Given the description of an element on the screen output the (x, y) to click on. 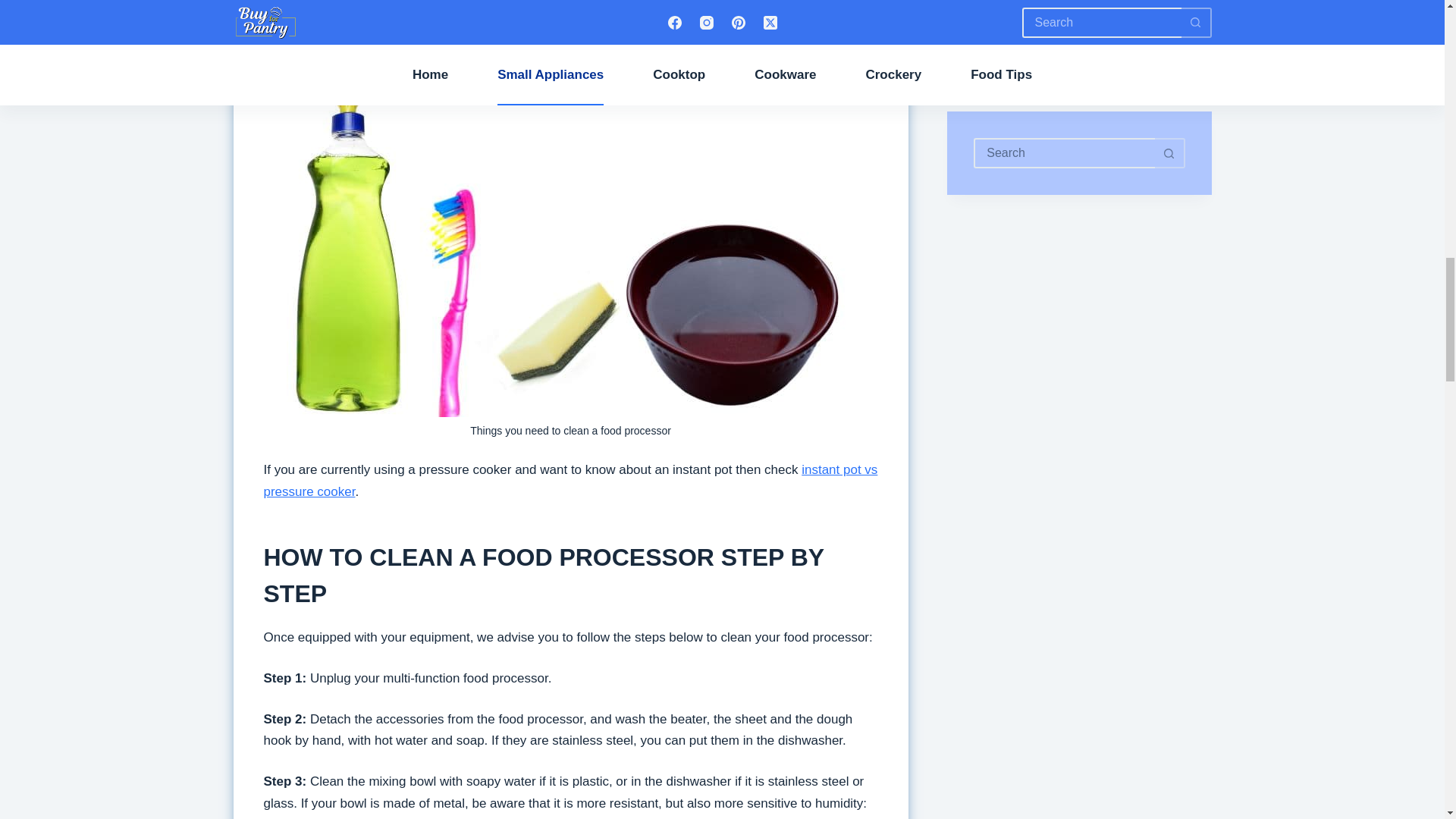
instant pot vs pressure cooker (570, 480)
